Given the description of an element on the screen output the (x, y) to click on. 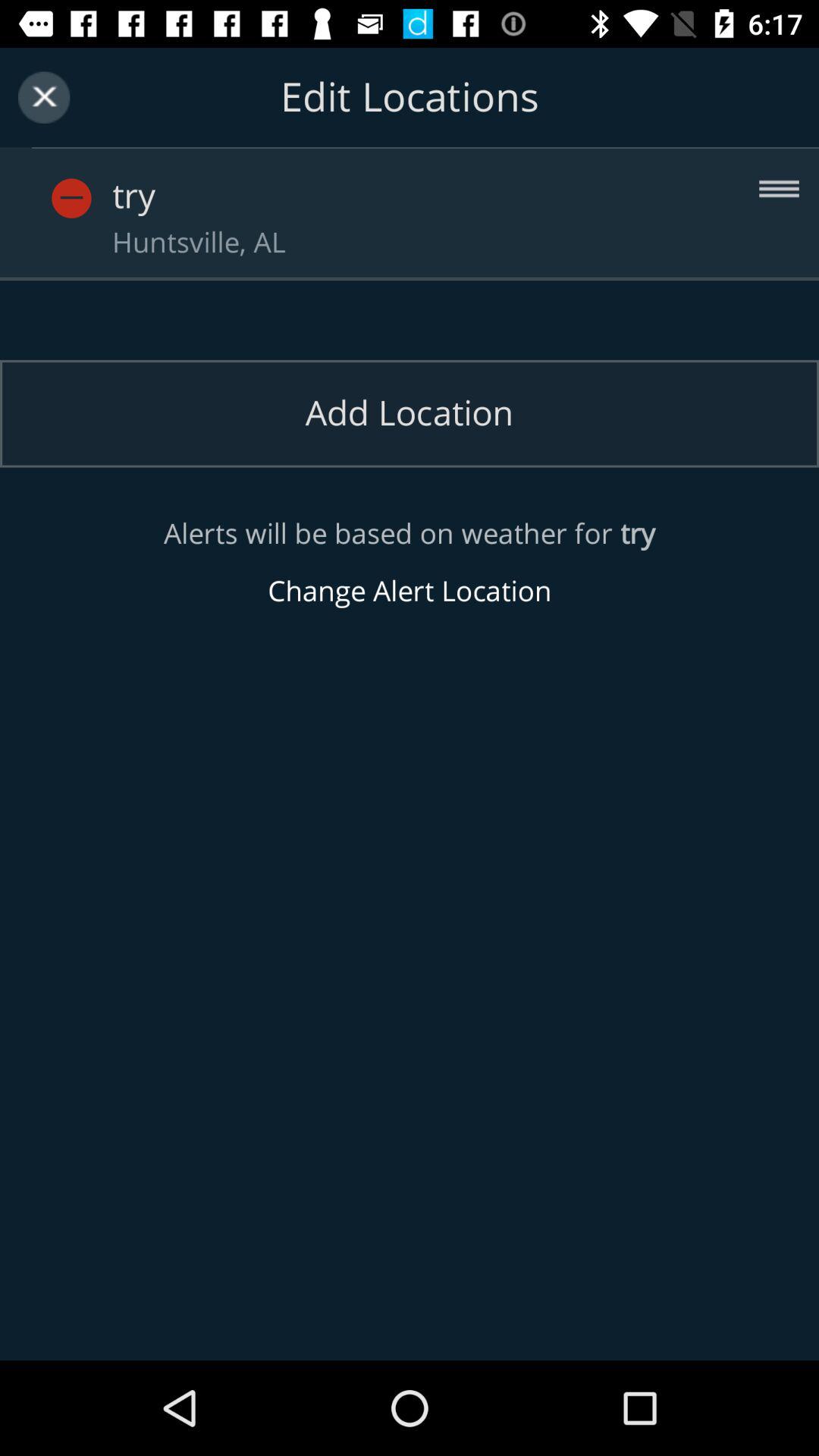
close the window (43, 97)
